Given the description of an element on the screen output the (x, y) to click on. 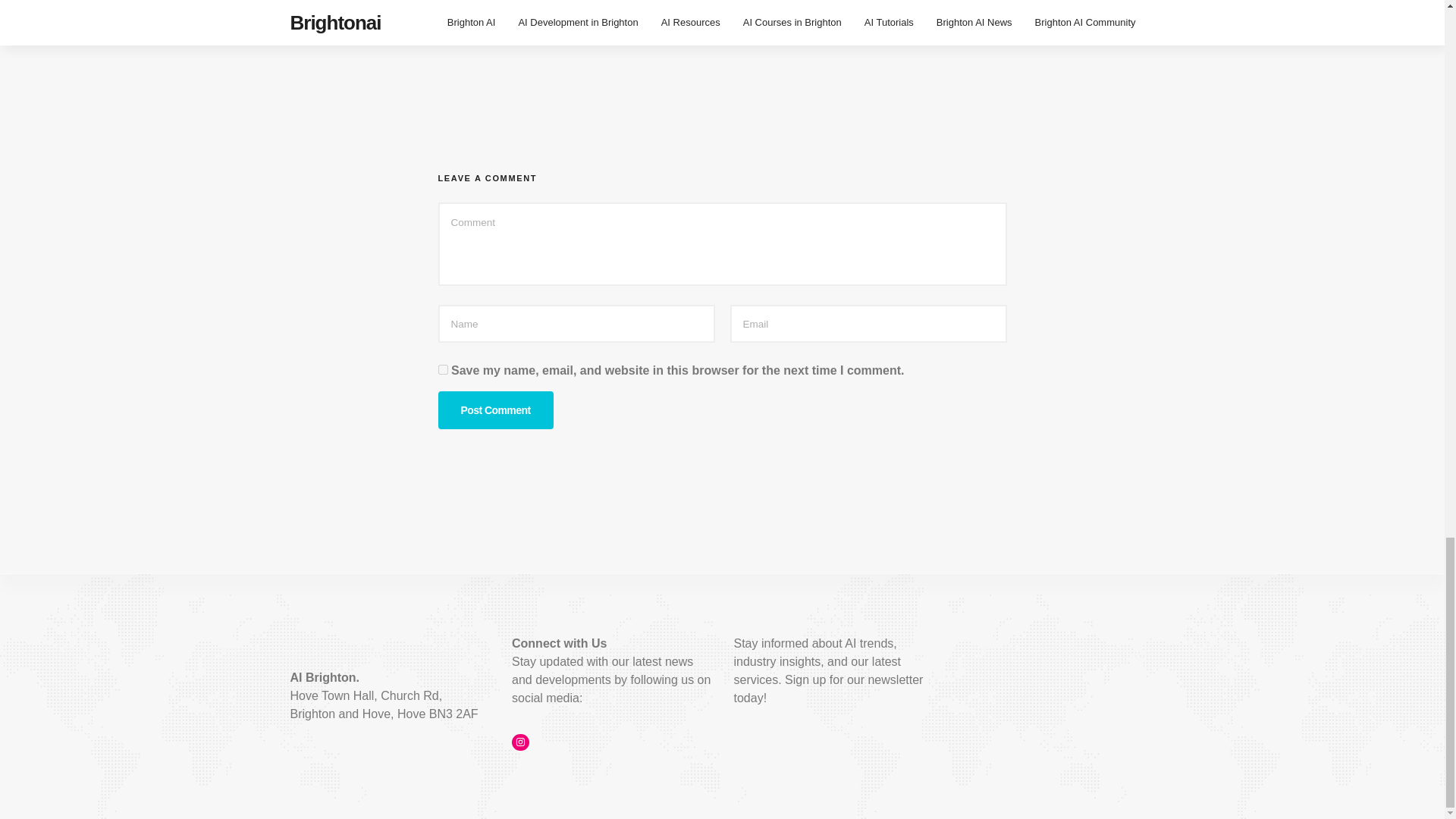
yes (443, 369)
Post Comment (495, 410)
